Given the description of an element on the screen output the (x, y) to click on. 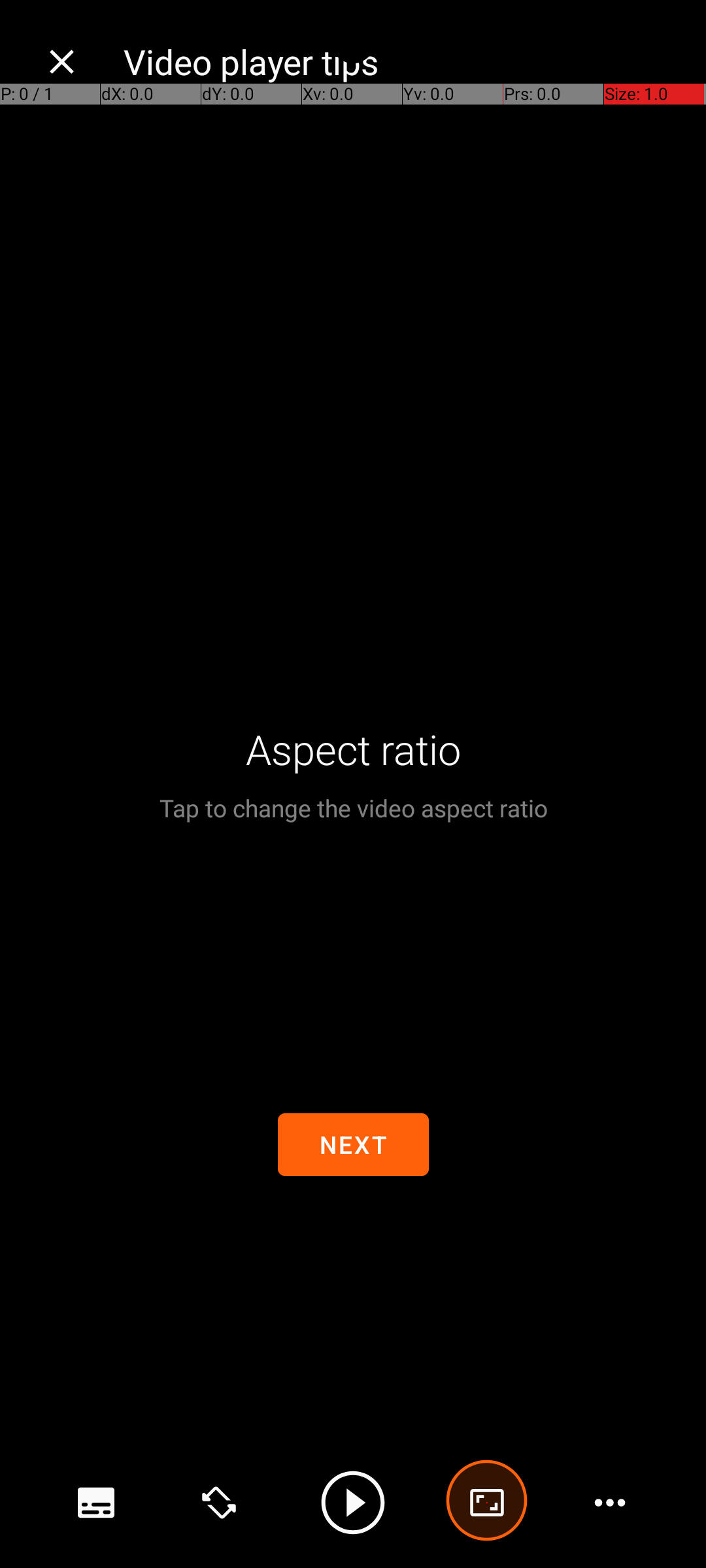
Video player. Tap to show controls. Tap the back button to hide them Element type: android.widget.FrameLayout (353, 784)
Video player tips Element type: android.widget.TextView (400, 61)
Aspect ratio Element type: android.widget.TextView (352, 748)
Tap to change the video aspect ratio Element type: android.widget.TextView (352, 807)
advanced options Element type: android.widget.ImageView (486, 1502)
